Given the description of an element on the screen output the (x, y) to click on. 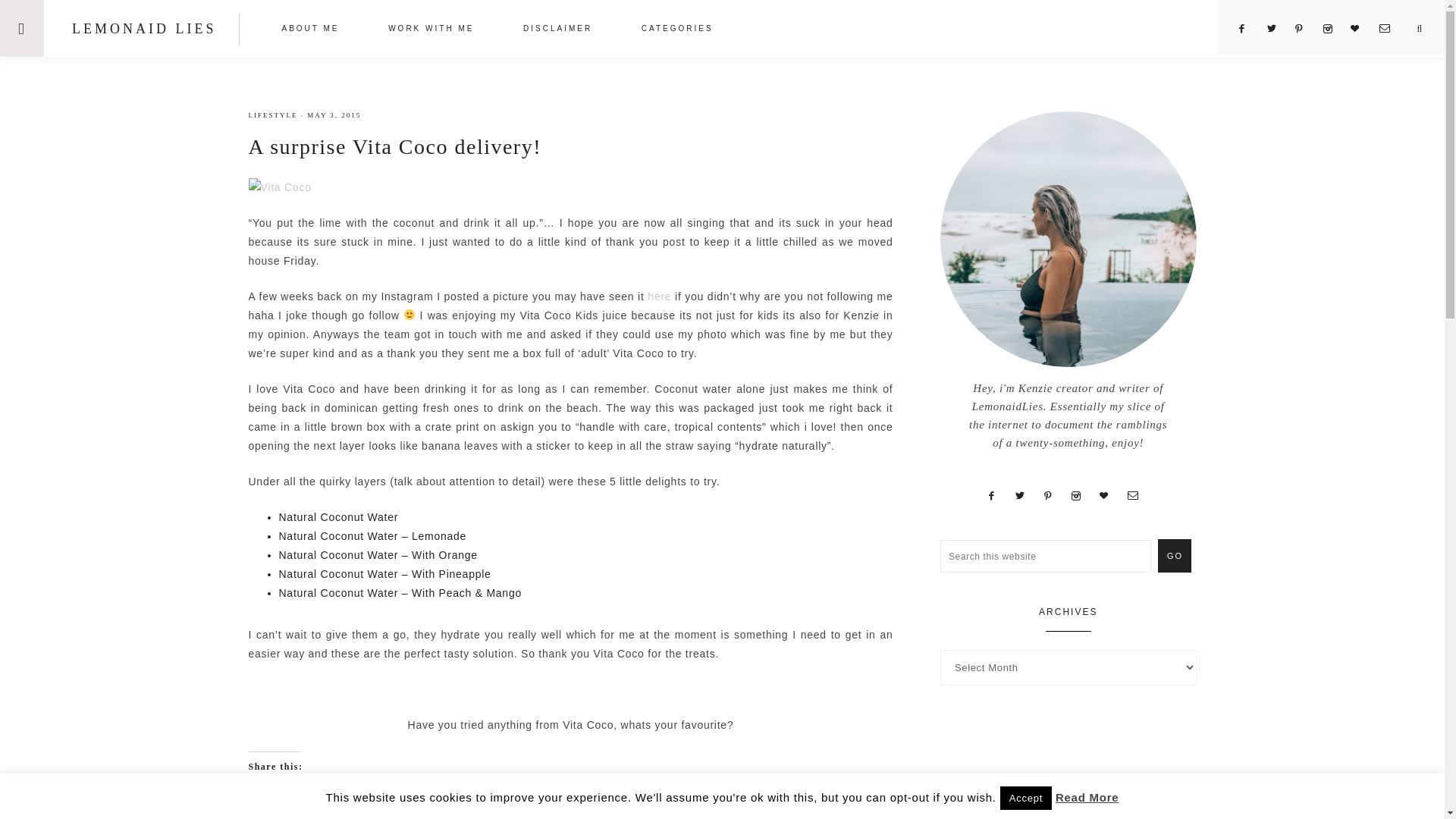
Click to share on Twitter (260, 793)
CATEGORIES (677, 29)
Twitter (1277, 29)
Bloglovin (1361, 29)
Pinterest (1305, 29)
Instagram (1332, 29)
Click to share on Facebook (290, 793)
LIFESTYLE (273, 114)
GO (1174, 555)
DISCLAIMER (557, 29)
GO (1174, 555)
Facebook (1248, 29)
Email Me (1390, 29)
LEMONAID LIES (143, 28)
WORK WITH ME (430, 29)
